Given the description of an element on the screen output the (x, y) to click on. 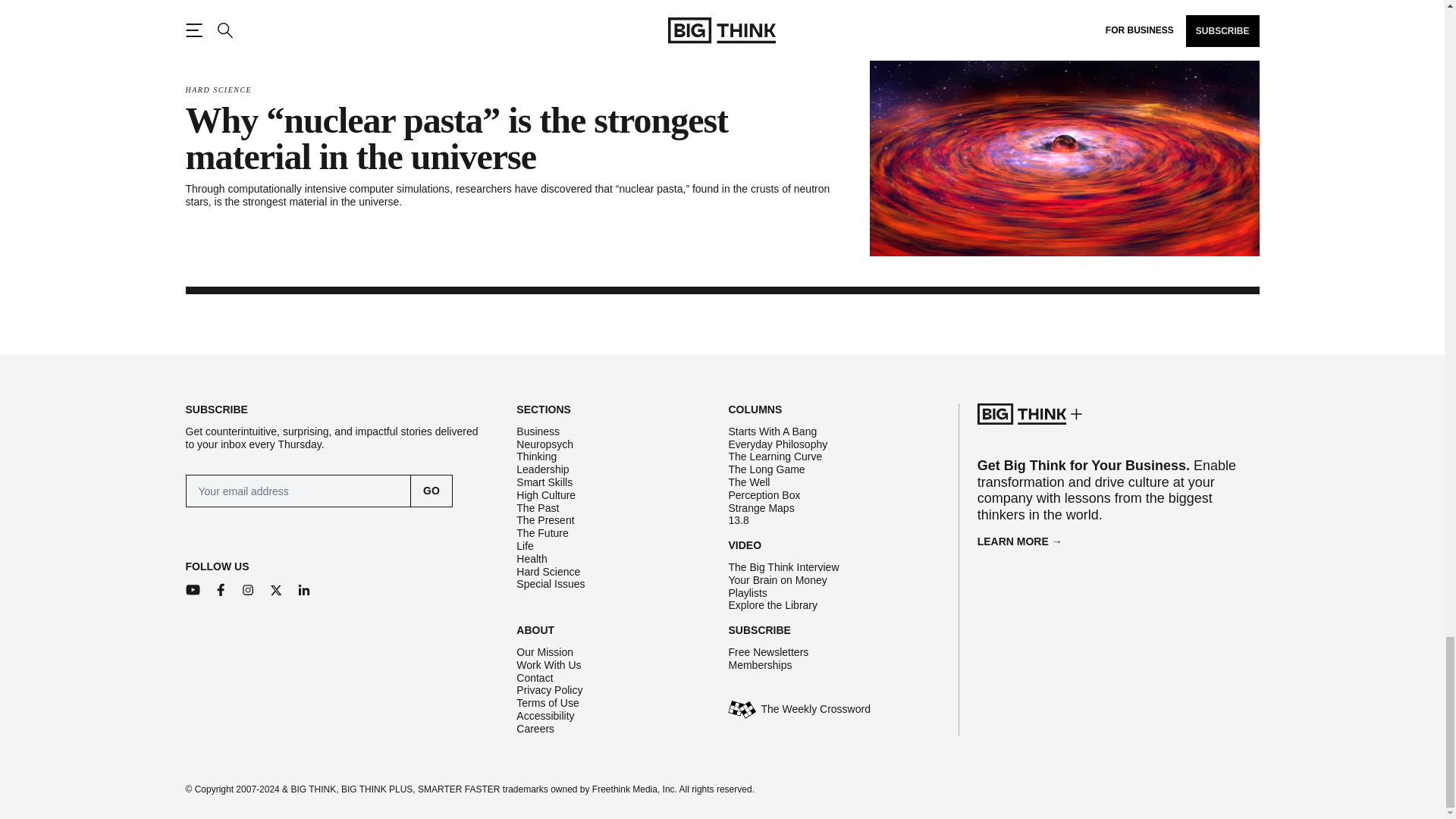
Go (431, 490)
